Given the description of an element on the screen output the (x, y) to click on. 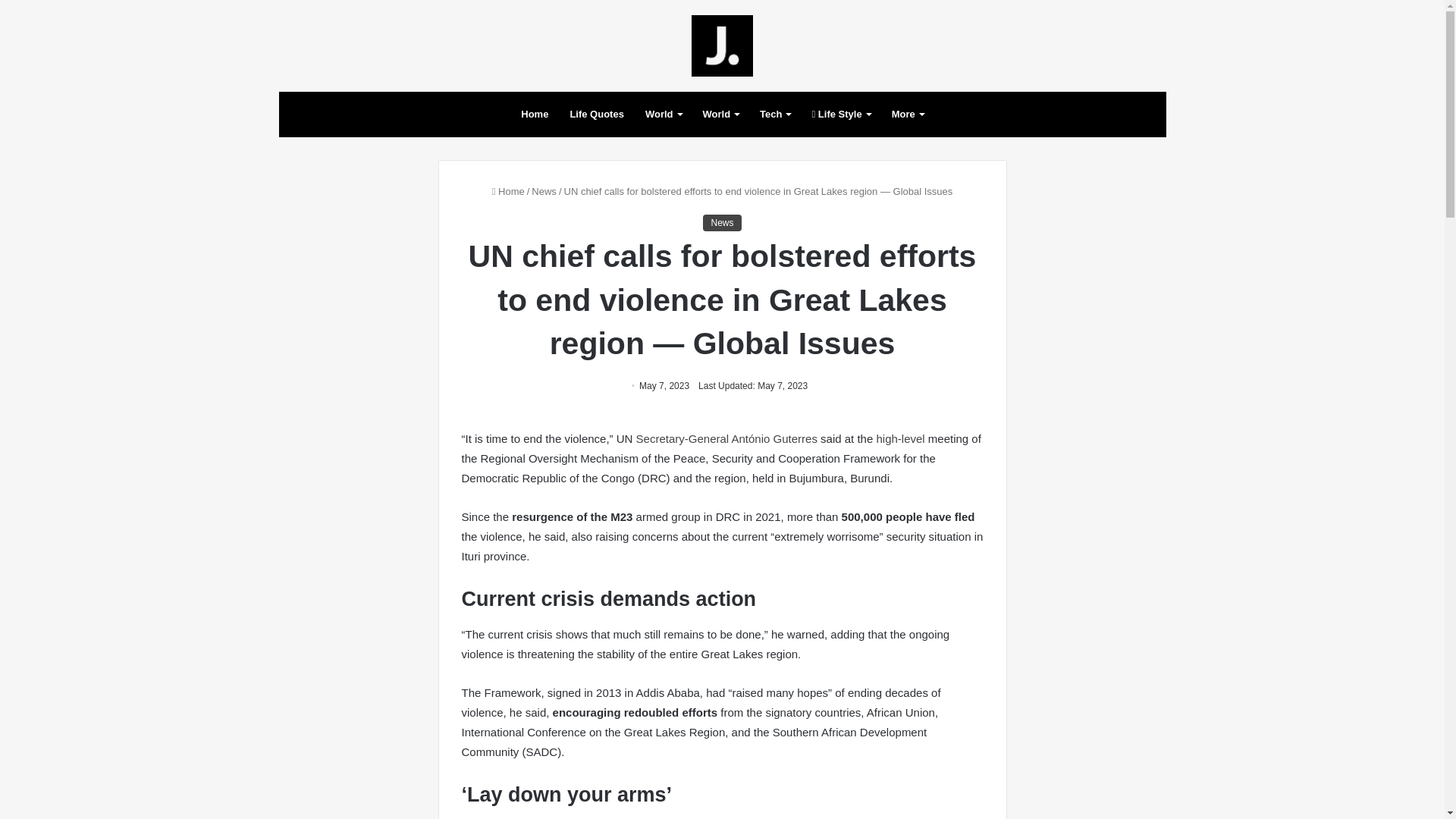
Life Quotes (596, 114)
More (907, 114)
Home (535, 114)
World (720, 114)
Tech (774, 114)
World (663, 114)
Life Style (840, 114)
My Blog (721, 45)
